Given the description of an element on the screen output the (x, y) to click on. 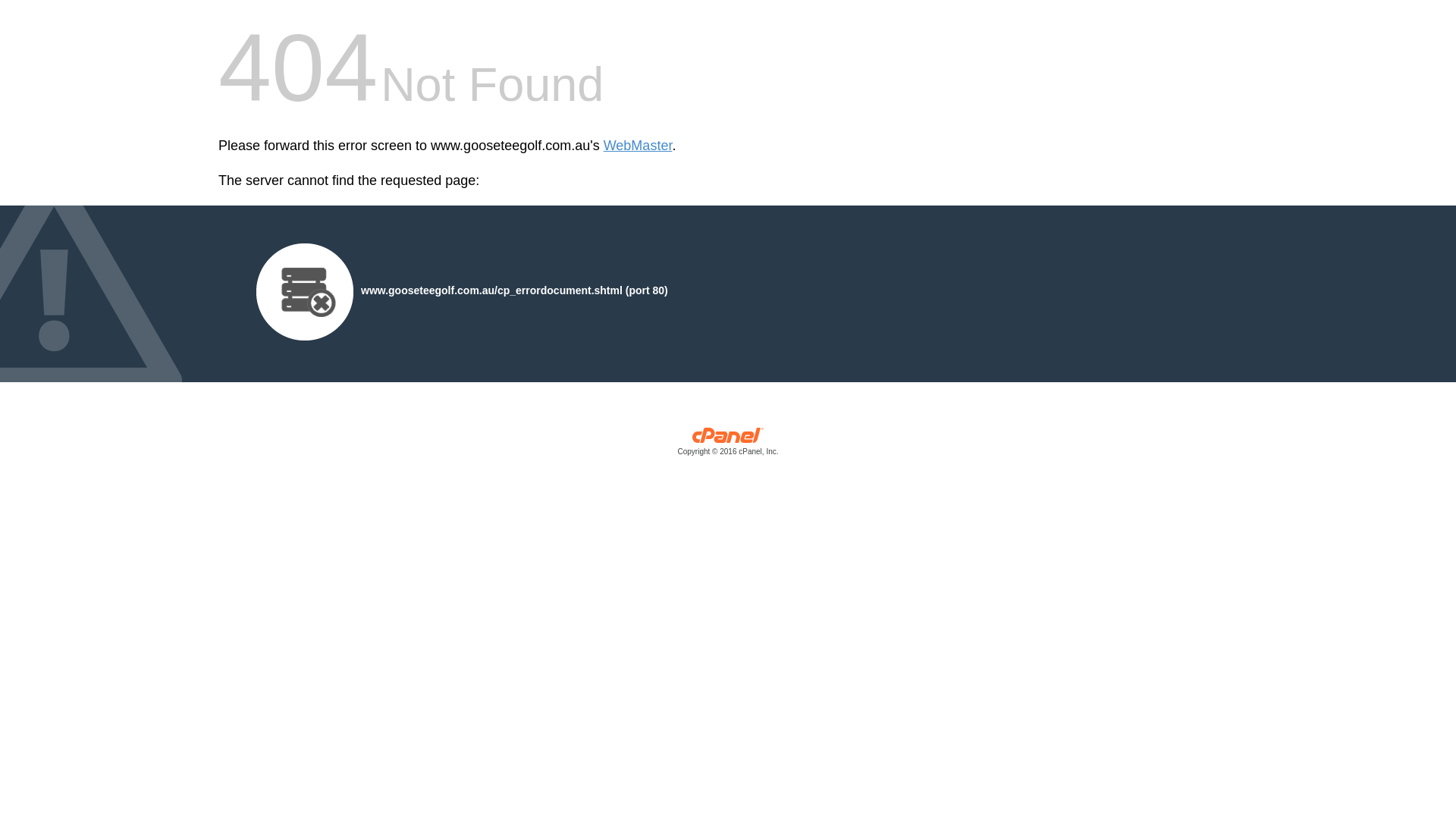
WebMaster Element type: text (637, 145)
